Given the description of an element on the screen output the (x, y) to click on. 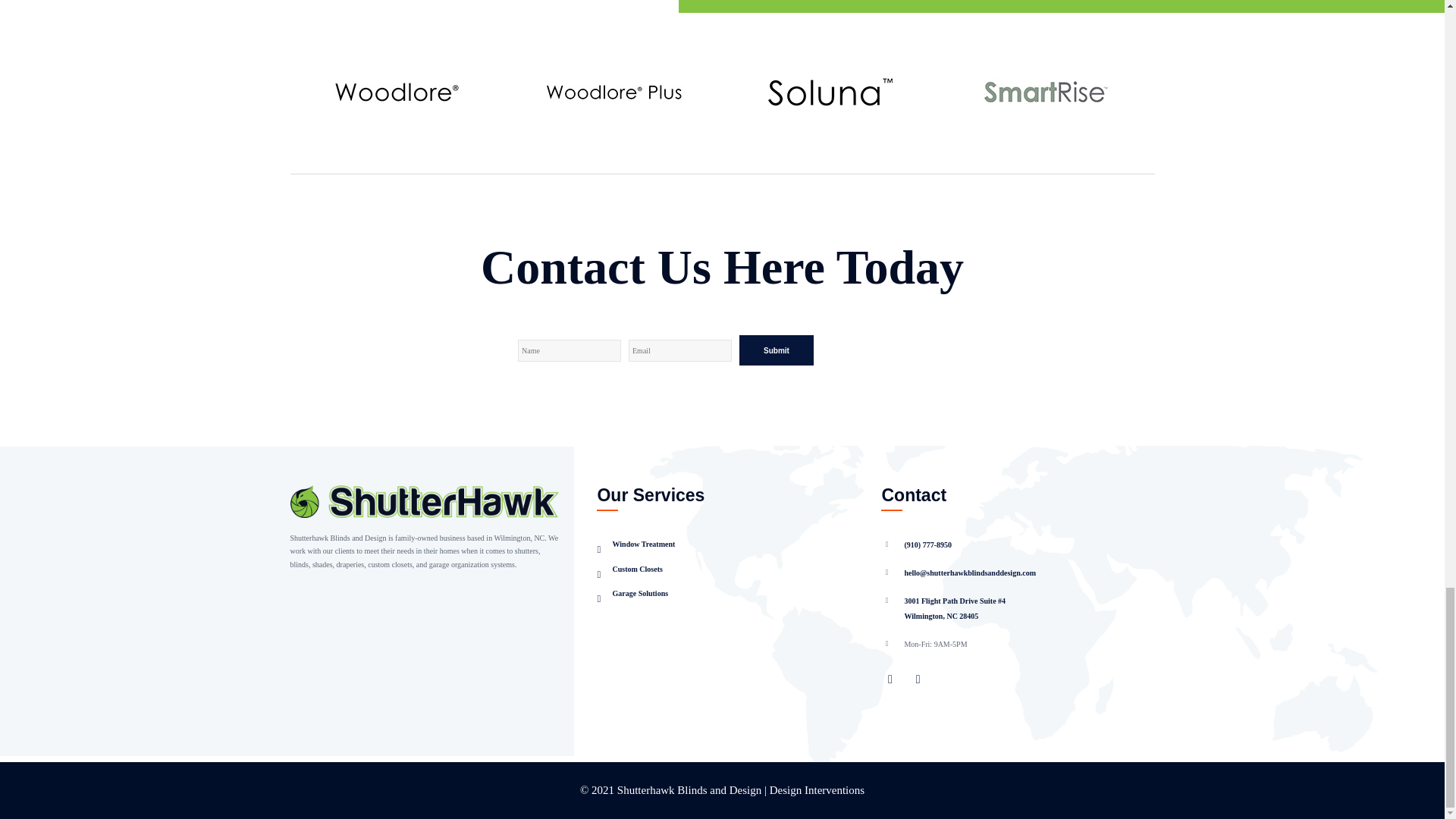
Shutterhawk Blinds and Design (689, 789)
Custom Closets (629, 569)
Window Treatment (635, 544)
Submit (776, 349)
Garage Solutions (632, 593)
Submit (776, 349)
